Given the description of an element on the screen output the (x, y) to click on. 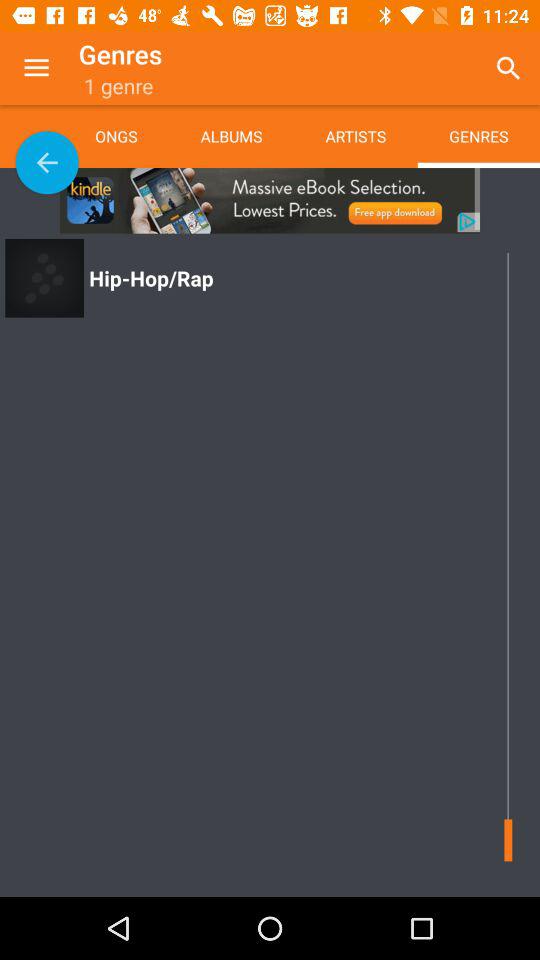
select the app to the left of genres (36, 68)
